Given the description of an element on the screen output the (x, y) to click on. 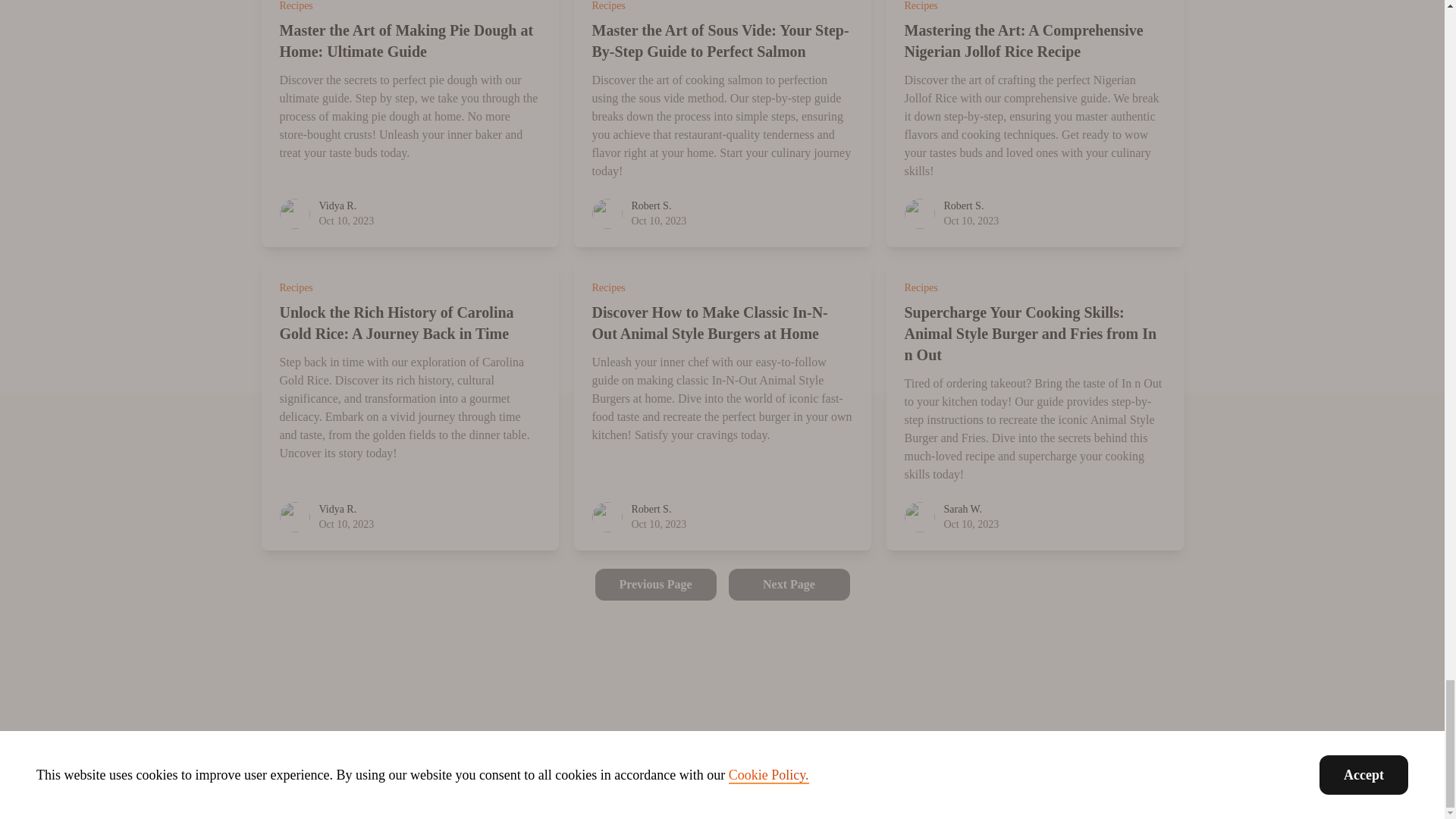
Acceptable Use Policy (828, 742)
Cookie Policy (941, 742)
Disclaimer (589, 742)
Next Page (788, 584)
Privacy Policy (504, 742)
Previous Page (655, 584)
Terms and Conditions (695, 742)
